Given the description of an element on the screen output the (x, y) to click on. 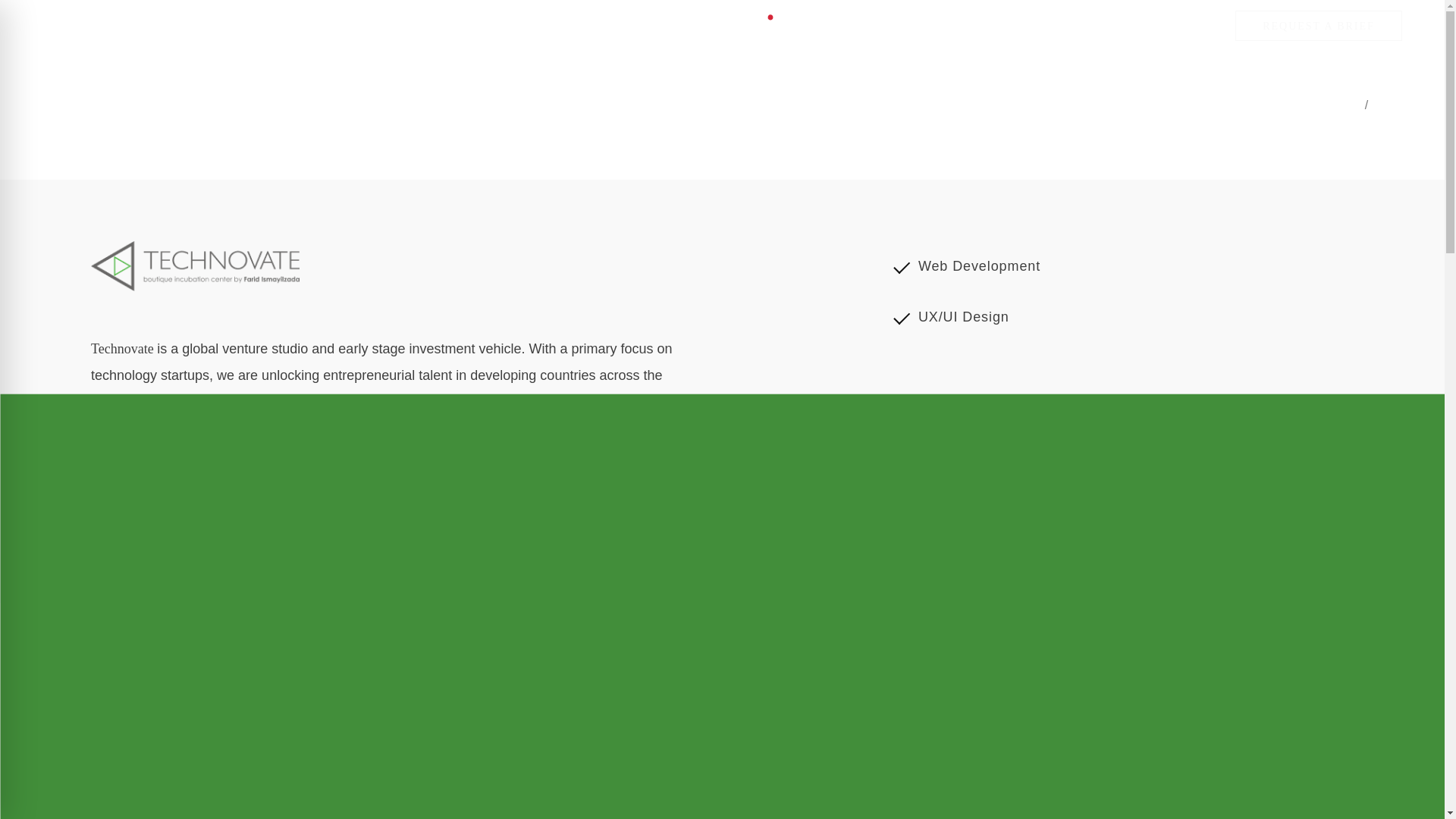
HOME Element type: text (1342, 105)
PORTFOLIO Element type: text (1407, 105)
